Given the description of an element on the screen output the (x, y) to click on. 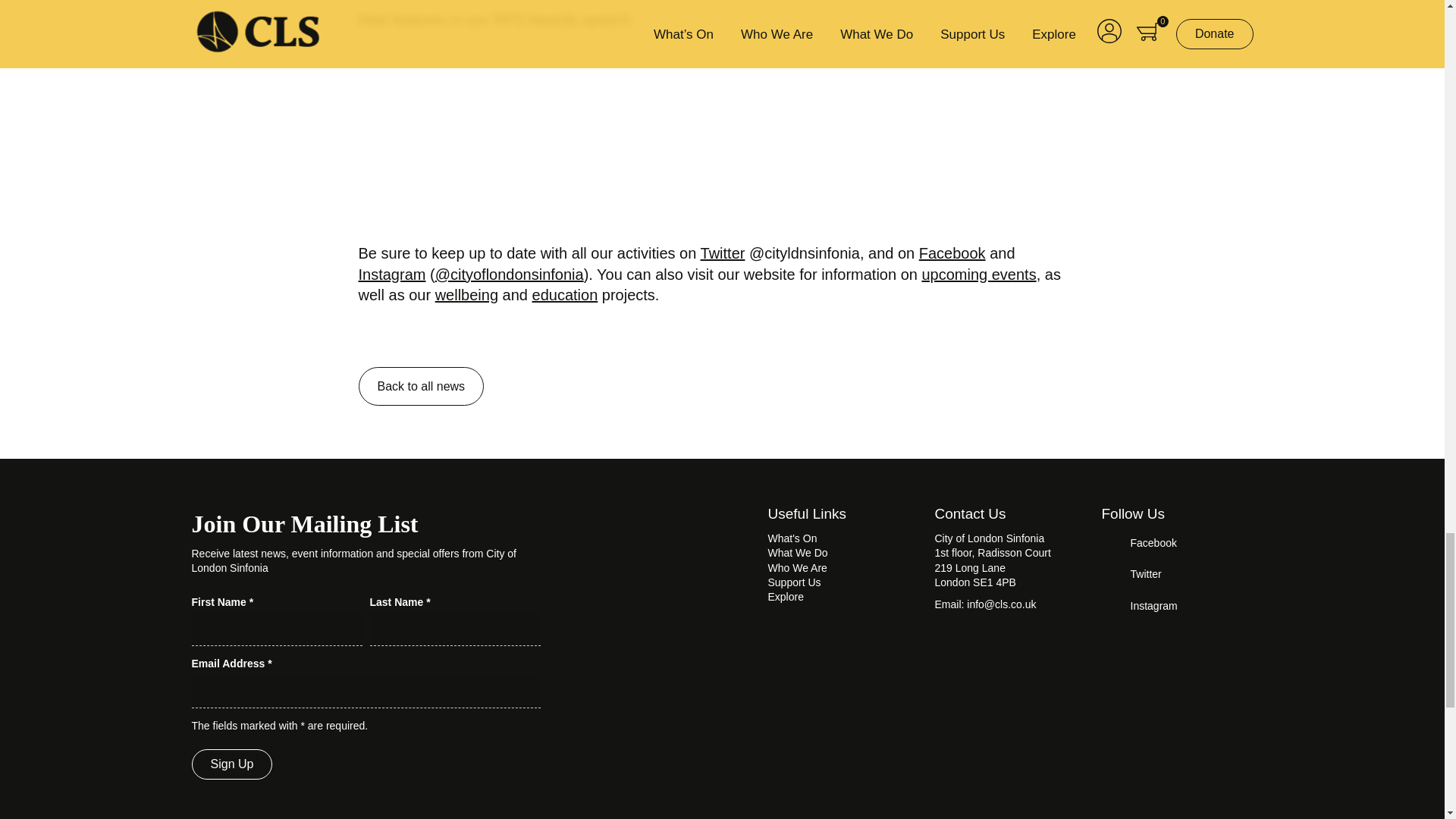
Back to all news (420, 386)
Facebook (951, 252)
Sign Up (231, 764)
wellbeing (466, 294)
Instagram (391, 273)
Sign Up (231, 764)
upcoming events (978, 273)
education (565, 294)
What's On (791, 538)
Twitter (722, 252)
